Given the description of an element on the screen output the (x, y) to click on. 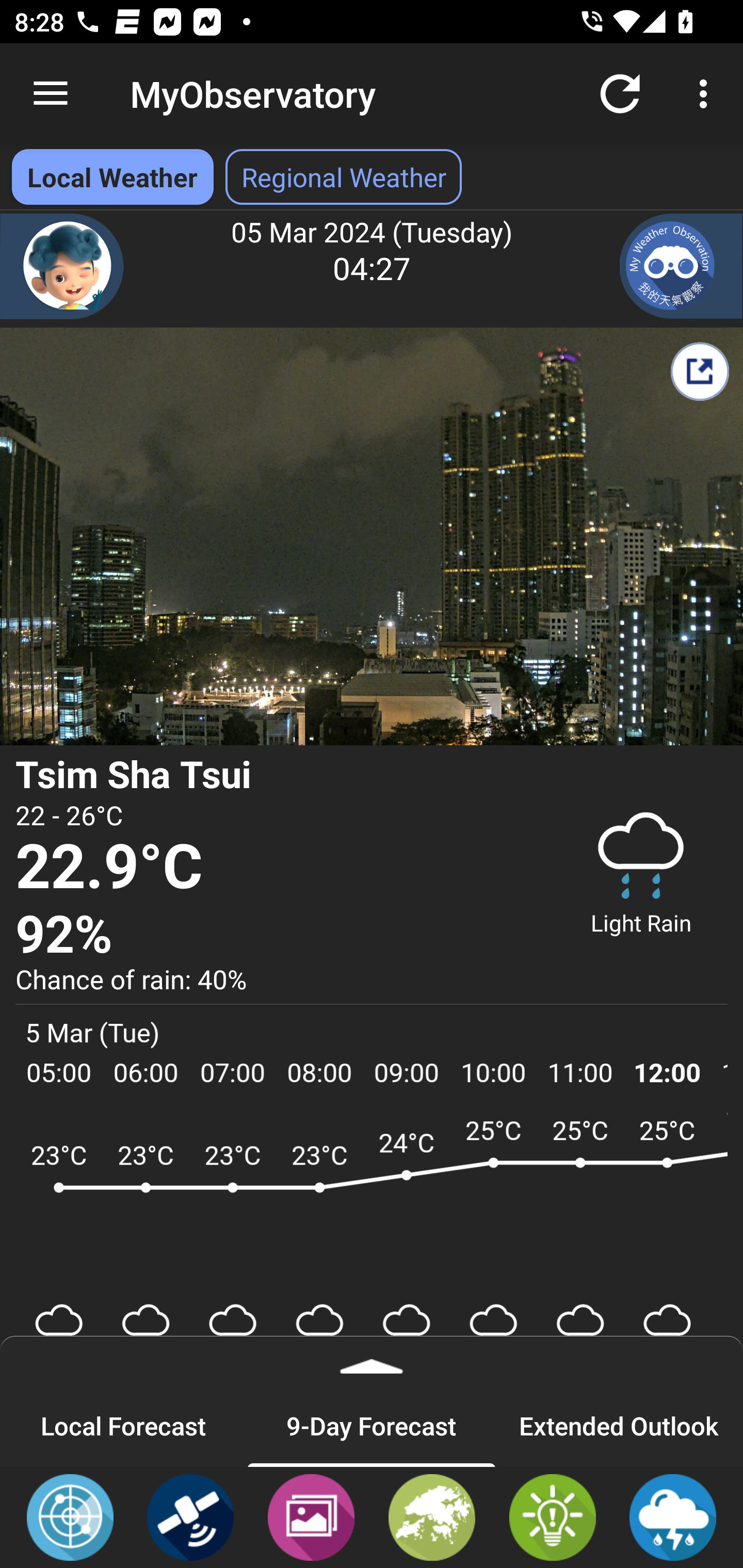
Navigate up (50, 93)
Refresh (619, 93)
More options (706, 93)
Local Weather Local Weather selected (112, 176)
Regional Weather Select Regional Weather (343, 176)
Chatbot (62, 266)
My Weather Observation (680, 265)
Share My Weather Report (699, 371)
22.9°C Temperature
22.9 degree Celsius (276, 867)
92% Relative Humidity
92 percent (276, 934)
Expand (371, 1358)
Local Forecast (123, 1424)
Extended Outlook (619, 1424)
Radar Images (69, 1516)
Satellite Images (190, 1516)
Weather Photos (310, 1516)
Regional Weather (431, 1516)
Weather Tips (551, 1516)
Loc-based Rainfall & Lightning Forecast (672, 1516)
